Given the description of an element on the screen output the (x, y) to click on. 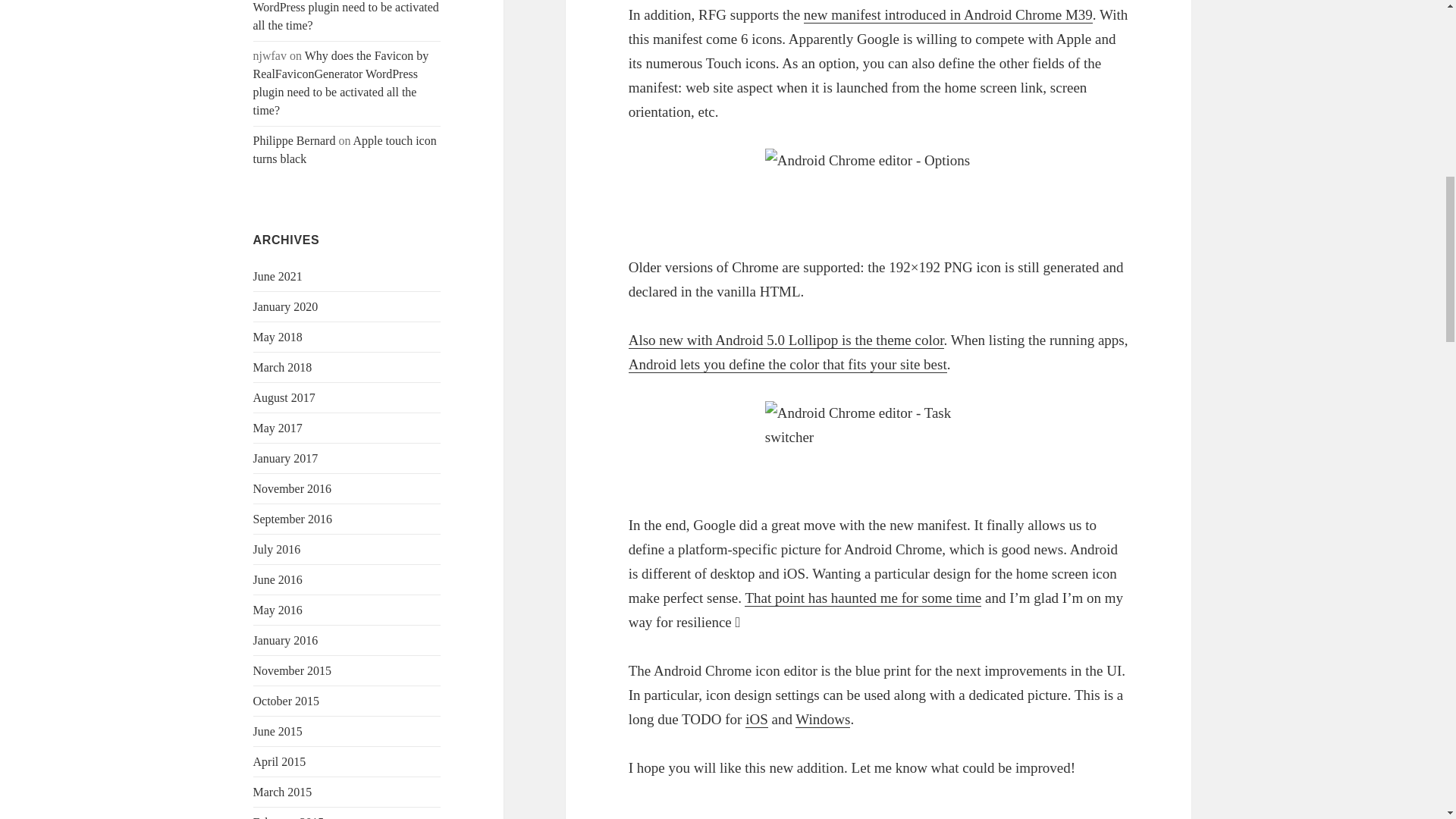
March 2015 (283, 791)
September 2016 (292, 518)
April 2015 (279, 761)
Philippe Bernard (294, 140)
January 2017 (285, 458)
October 2015 (286, 700)
June 2021 (277, 276)
Apple touch icon turns black (344, 149)
November 2015 (292, 670)
May 2017 (277, 427)
May 2016 (277, 609)
February 2015 (288, 817)
July 2016 (277, 549)
January 2016 (285, 640)
